Given the description of an element on the screen output the (x, y) to click on. 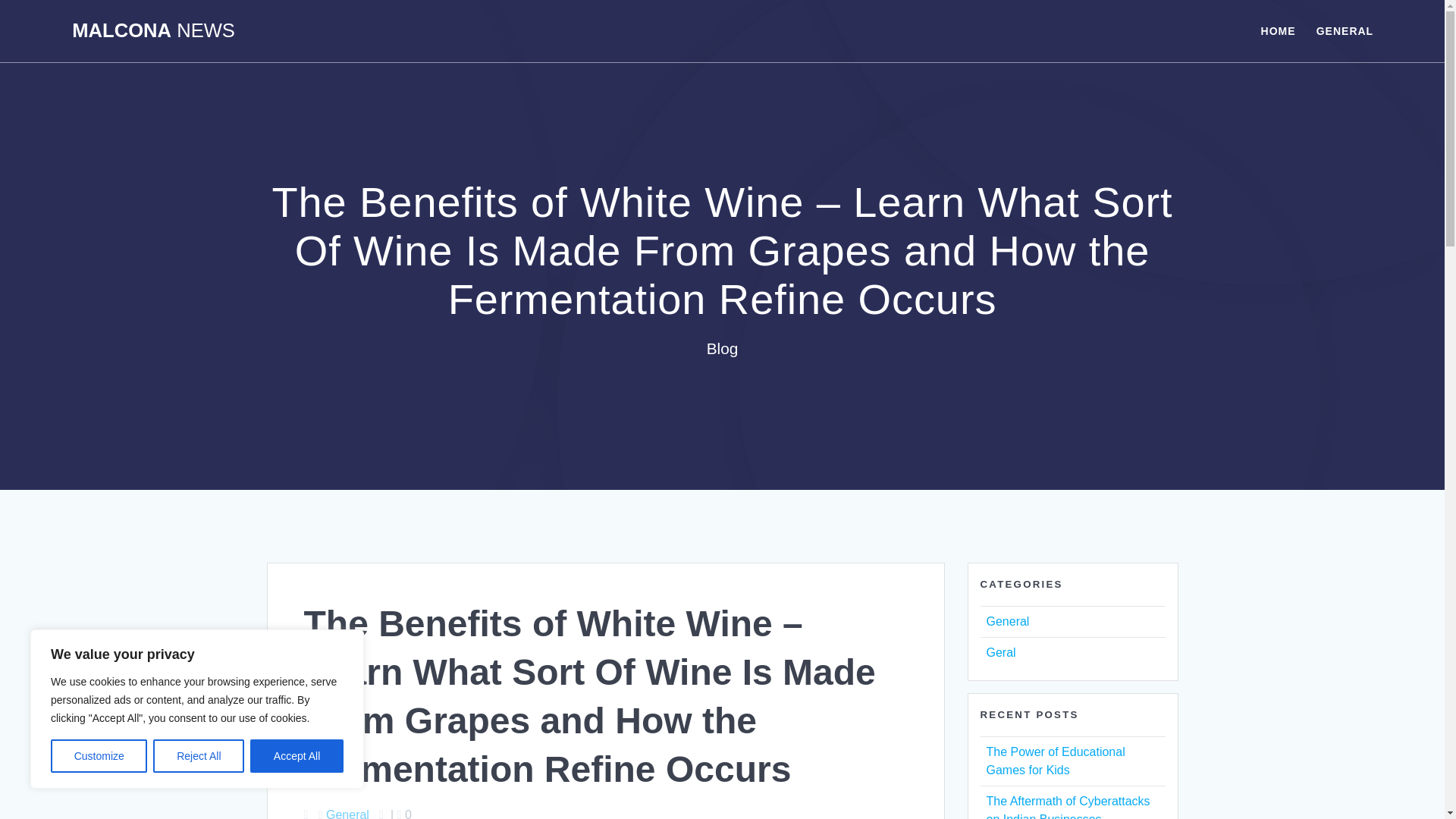
The Aftermath of Cyberattacks on Indian Businesses (1067, 806)
General (347, 813)
Customize (98, 756)
Geral (999, 652)
HOME (1277, 30)
Reject All (198, 756)
General (1007, 621)
MALCONA NEWS (152, 30)
Accept All (296, 756)
The Power of Educational Games for Kids (1054, 760)
GENERAL (1344, 30)
